Given the description of an element on the screen output the (x, y) to click on. 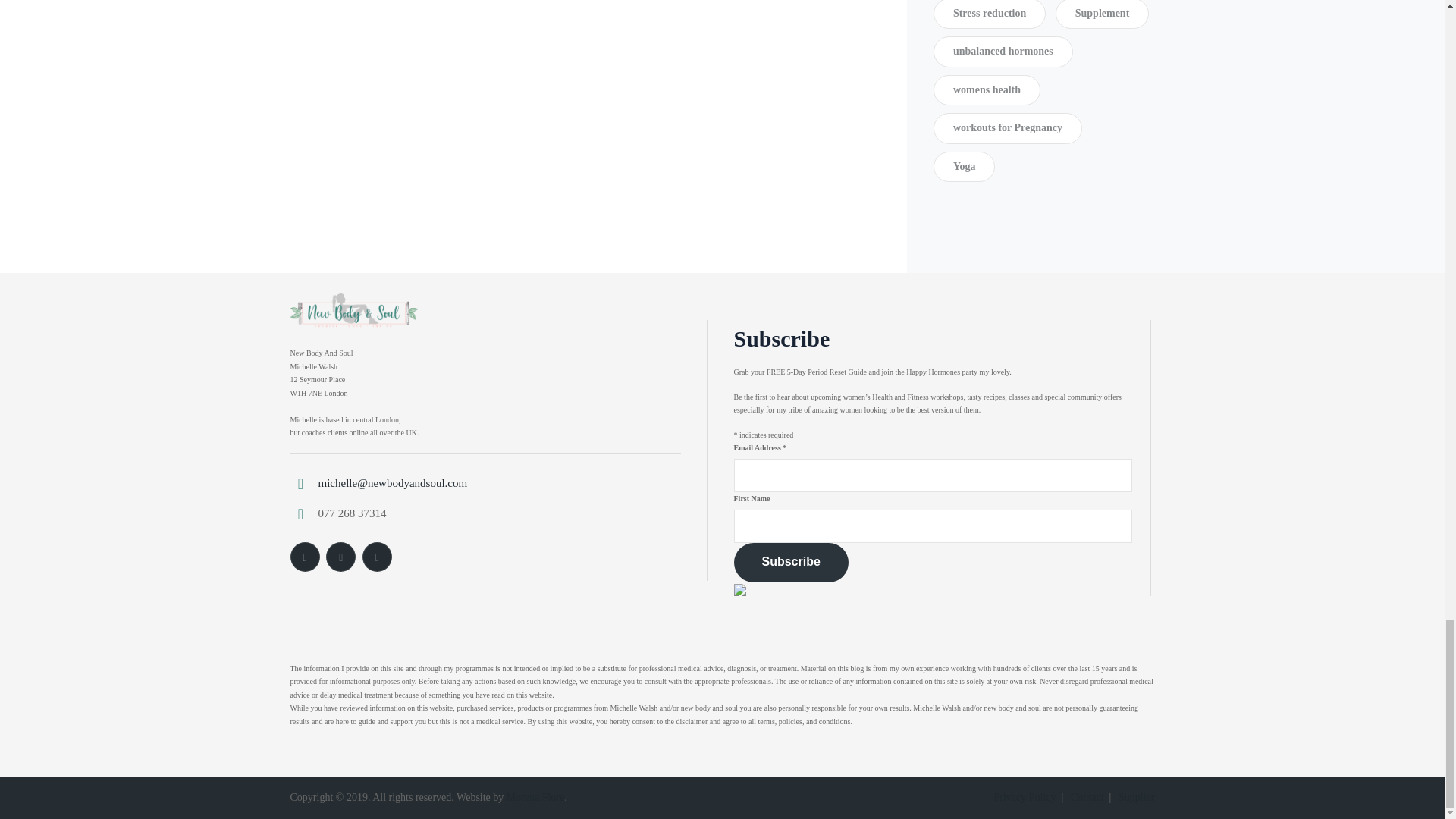
Subscribe (790, 562)
